Given the description of an element on the screen output the (x, y) to click on. 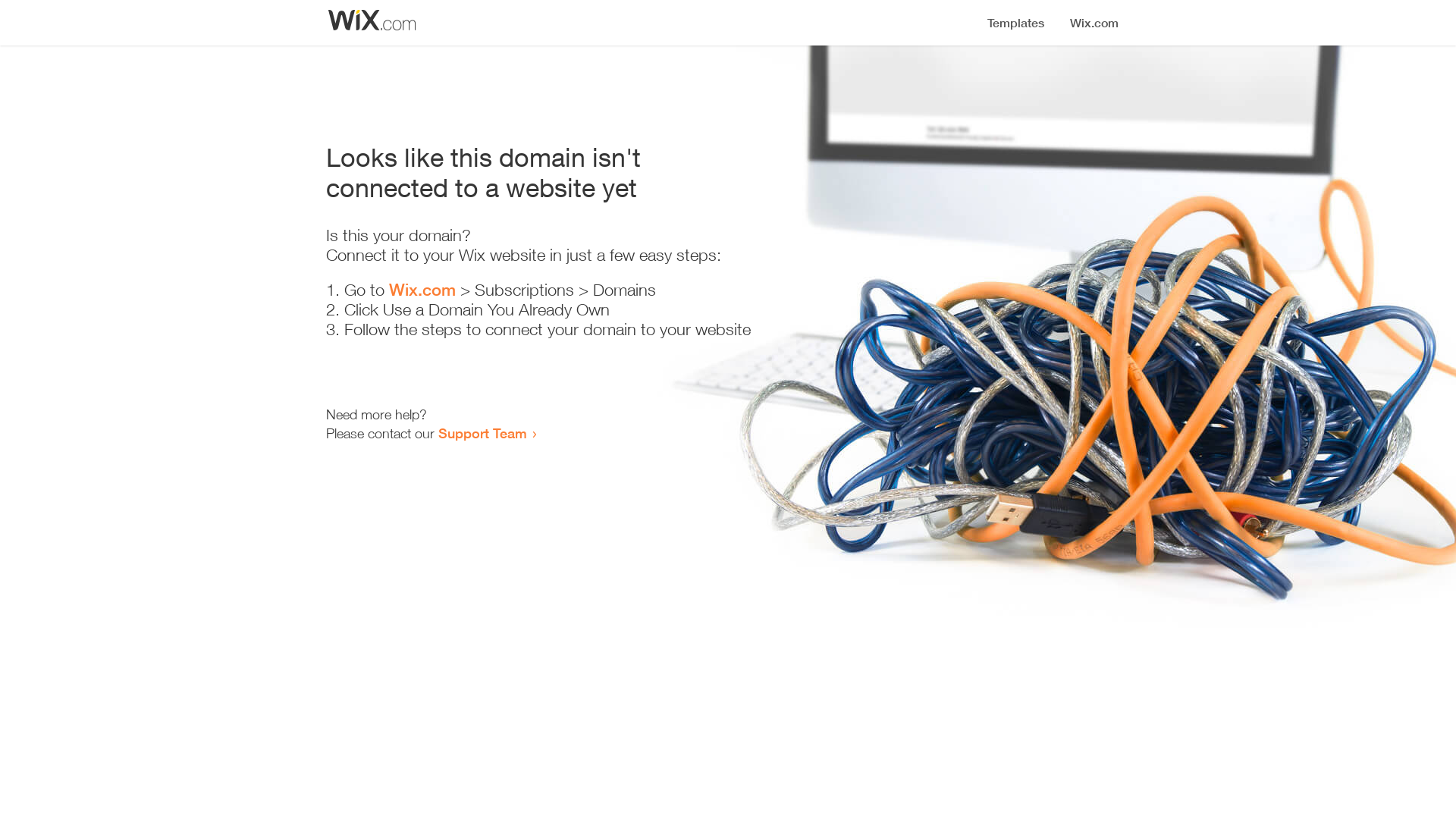
Wix.com Element type: text (422, 289)
Support Team Element type: text (482, 432)
